Given the description of an element on the screen output the (x, y) to click on. 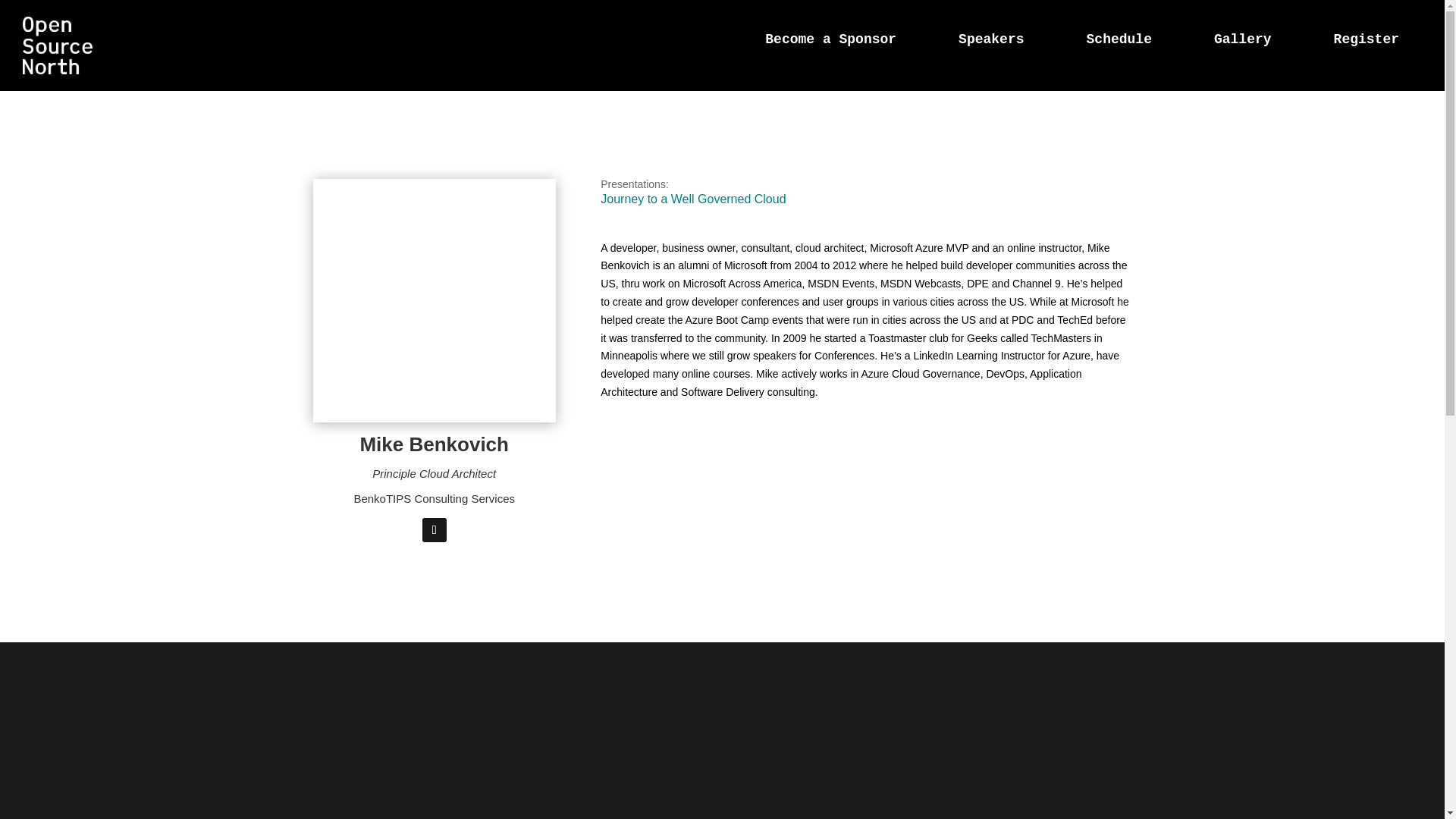
Register (1366, 39)
Become a Sponsor (830, 39)
MikeBenkovich1000x1000-01 (433, 300)
Schedule (1118, 39)
Journey to a Well Governed Cloud (692, 202)
Follow on LinkedIn (434, 529)
Gallery (1242, 39)
Speakers (990, 39)
